Given the description of an element on the screen output the (x, y) to click on. 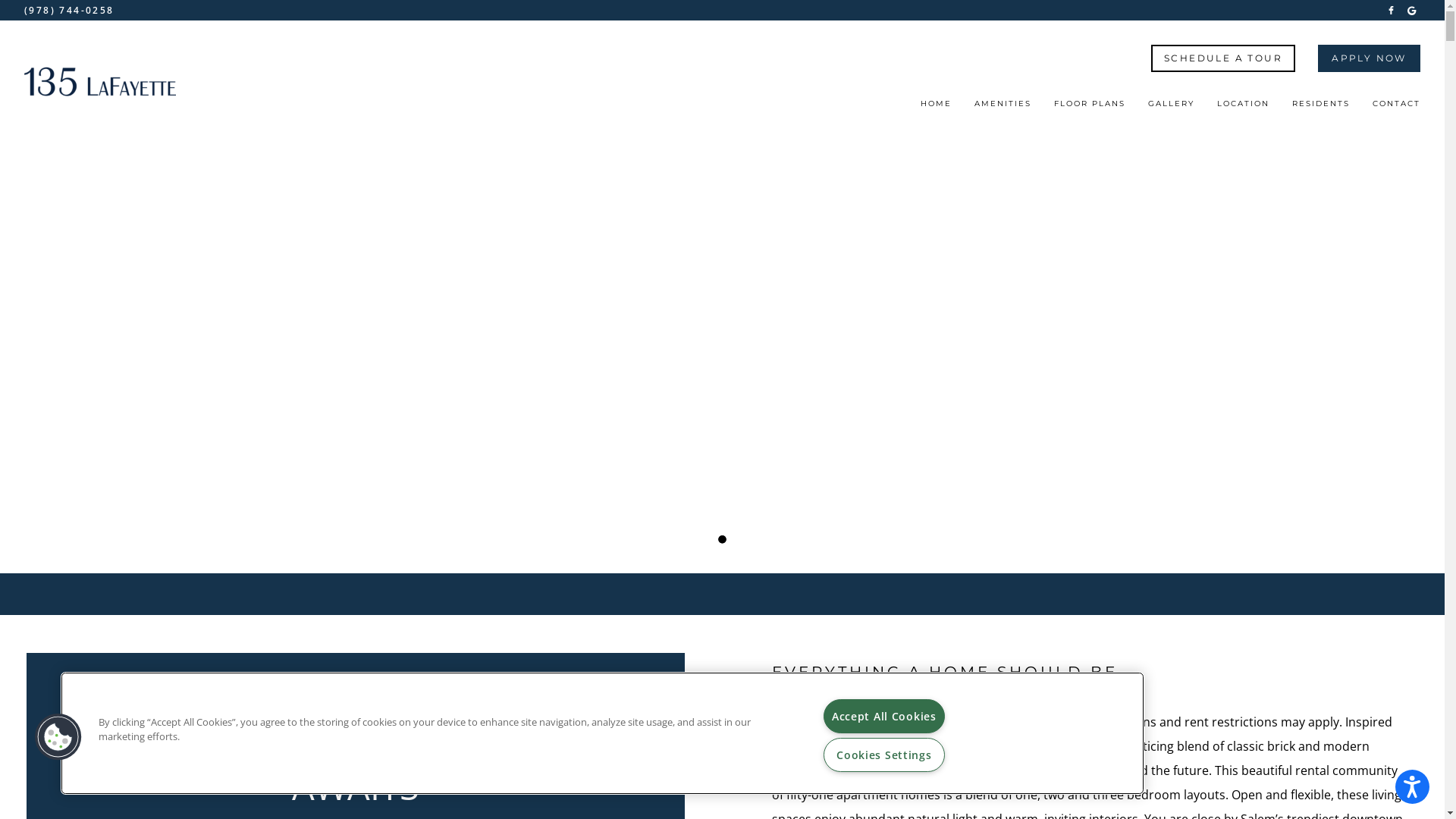
Accept All Cookies Element type: text (883, 716)
CONTACT Element type: text (1396, 108)
(978) 744-0258 Element type: text (69, 9)
Cookies Settings Element type: text (883, 754)
AMENITIES Element type: text (1002, 108)
LOCATION Element type: text (1243, 108)
SCHEDULE A TOUR Element type: text (1223, 58)
HOME Element type: text (935, 108)
FLOOR PLANS Element type: text (1089, 108)
RESIDENTS Element type: text (1320, 108)
Home Element type: hover (99, 81)
APPLY NOW Element type: text (1368, 58)
GALLERY Element type: text (1171, 108)
Cookies Button Element type: text (58, 736)
